Given the description of an element on the screen output the (x, y) to click on. 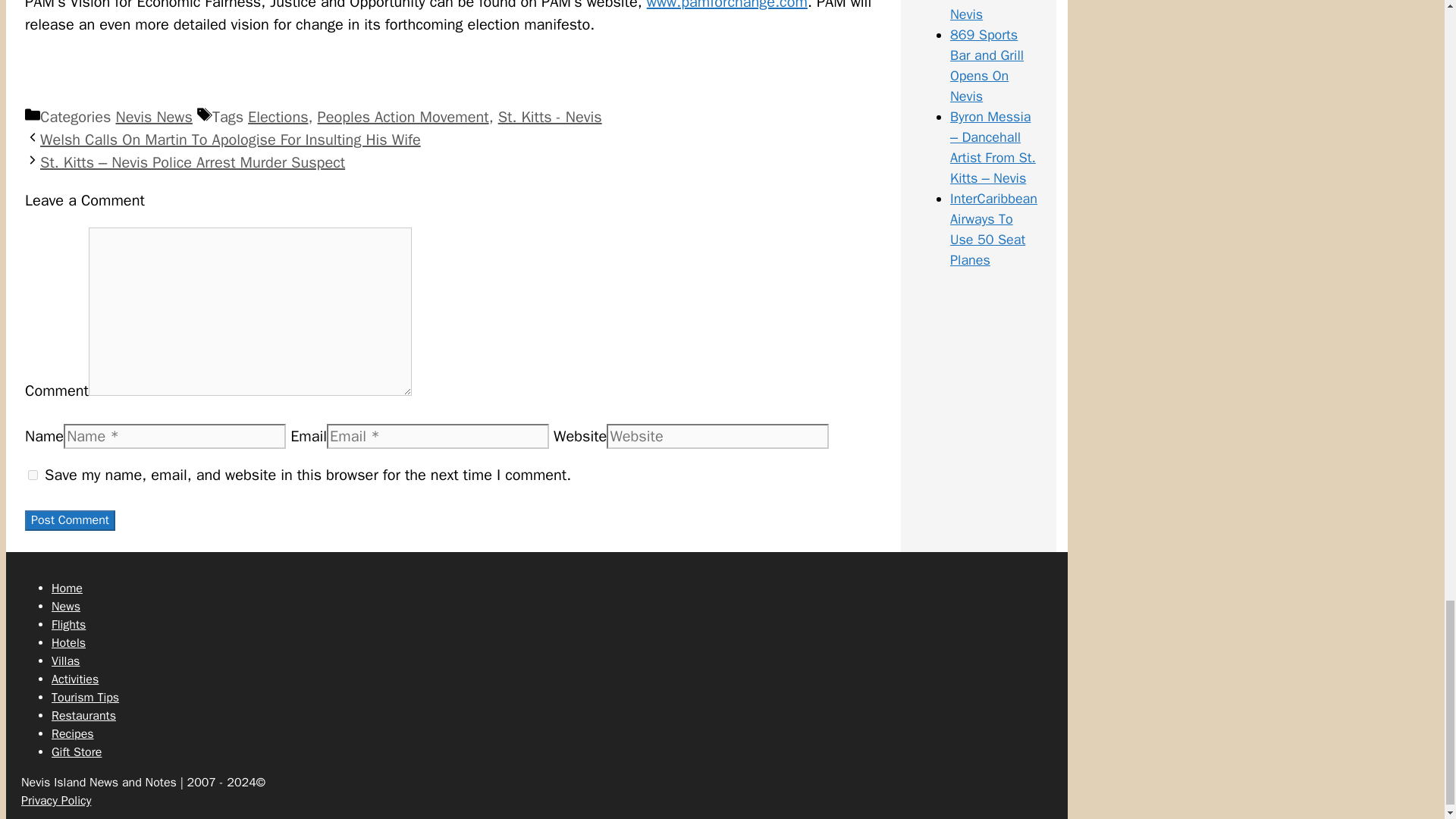
Peoples Action Movement (403, 116)
Post Comment (69, 520)
Welsh Calls On Martin To Apologise For Insulting His Wife (230, 139)
Post Comment (69, 520)
Elections (277, 116)
www.pamforchange.com (727, 5)
St. Kitts - Nevis (549, 116)
yes (32, 474)
Nevis News (153, 116)
